Given the description of an element on the screen output the (x, y) to click on. 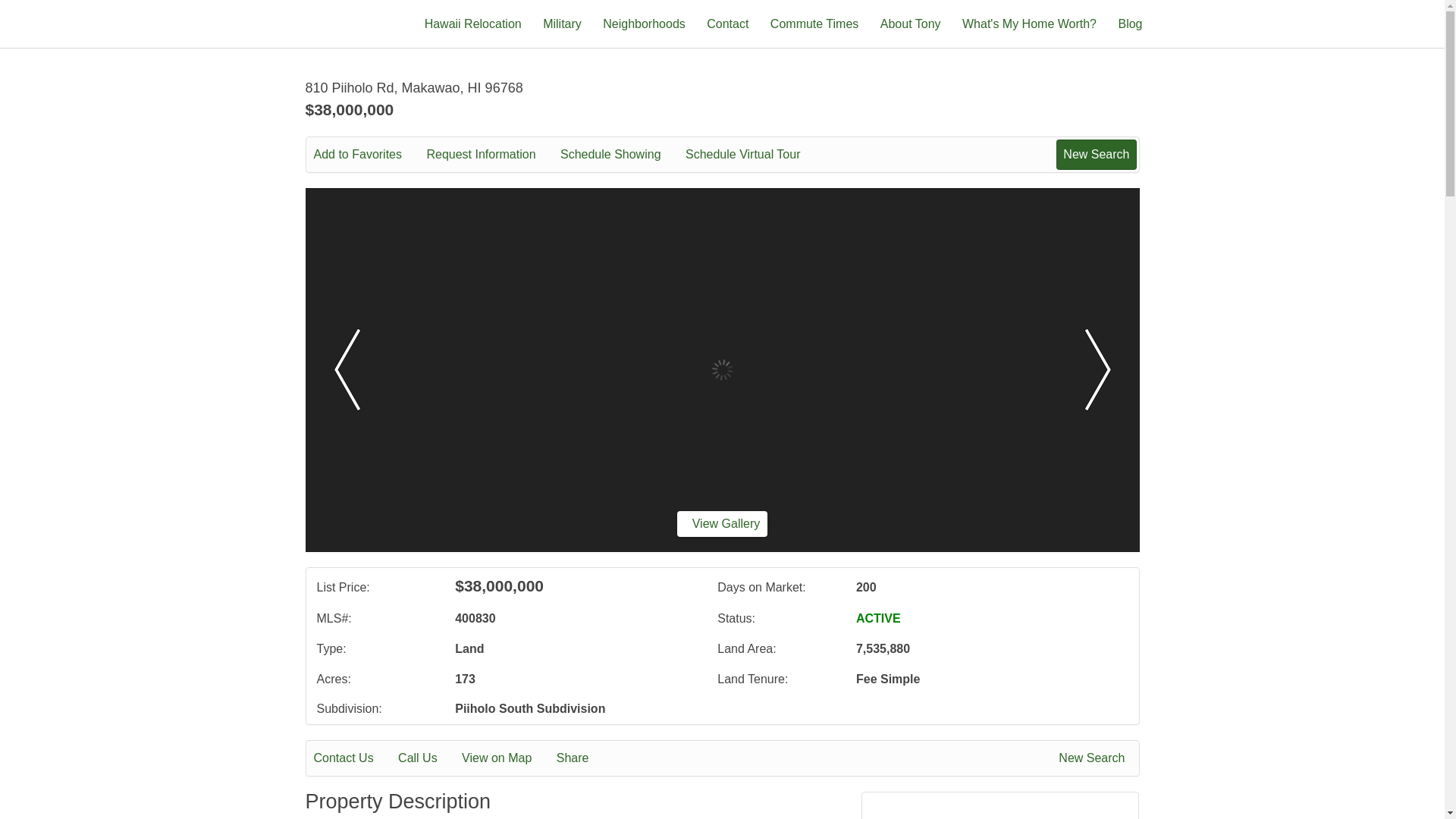
Call Us (427, 757)
Share (583, 757)
Request Information (491, 154)
Add to Favorites (368, 154)
New Search (1096, 154)
Blog (1129, 23)
Contact Us (354, 757)
Military (561, 23)
Schedule Showing (621, 154)
Neighborhoods (643, 23)
New Search (1094, 757)
Commute Times (814, 23)
What's My Home Worth? (1029, 23)
Hawaii Relocation (473, 23)
Contact (727, 23)
